Given the description of an element on the screen output the (x, y) to click on. 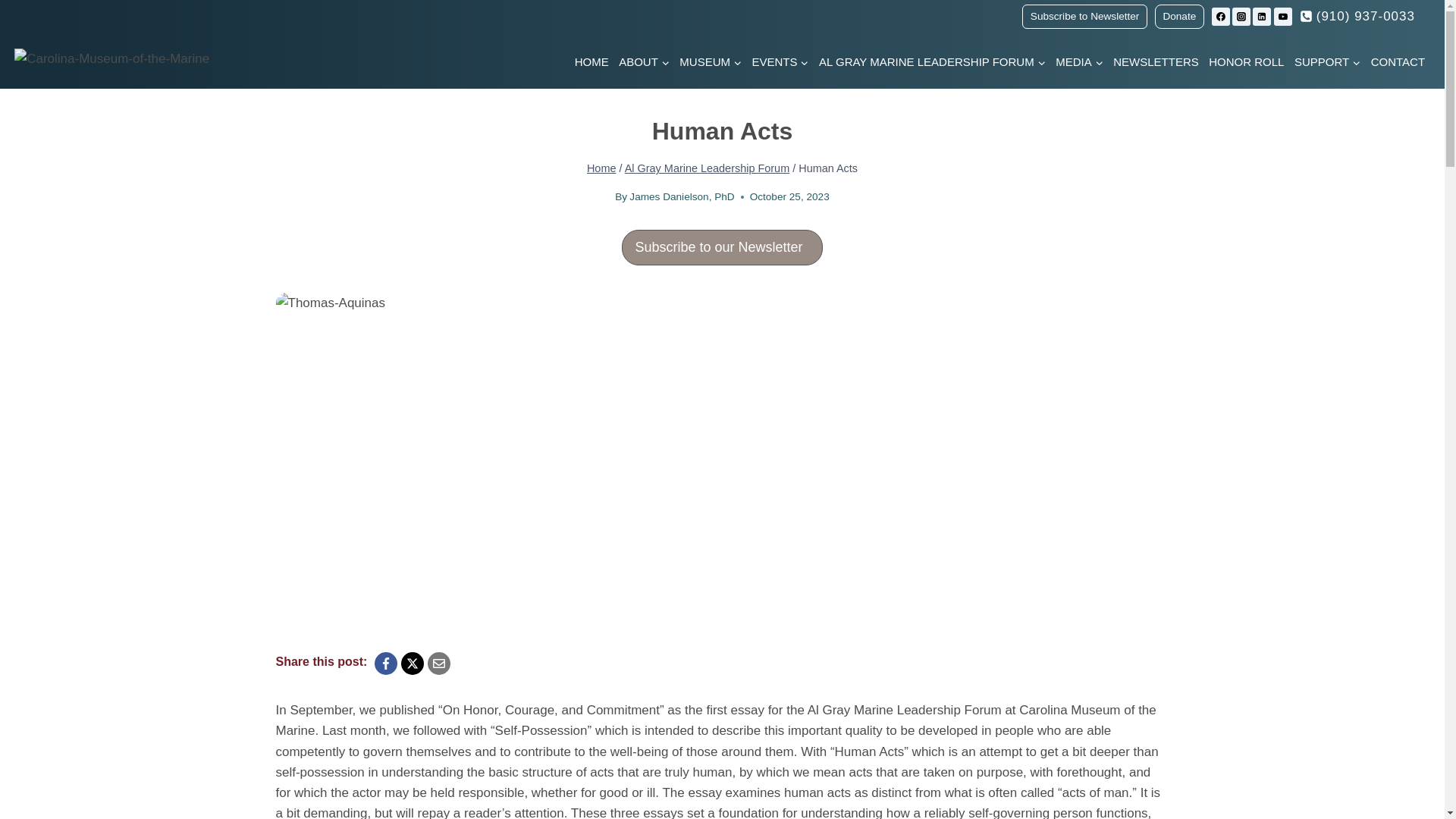
Donate (1179, 16)
SUPPORT (1326, 61)
EVENTS (779, 61)
HOME (591, 61)
MUSEUM (710, 61)
HONOR ROLL (1246, 61)
AL GRAY MARINE LEADERSHIP FORUM (931, 61)
Subscribe to Newsletter (1084, 16)
MEDIA (1078, 61)
NEWSLETTERS (1156, 61)
